Given the description of an element on the screen output the (x, y) to click on. 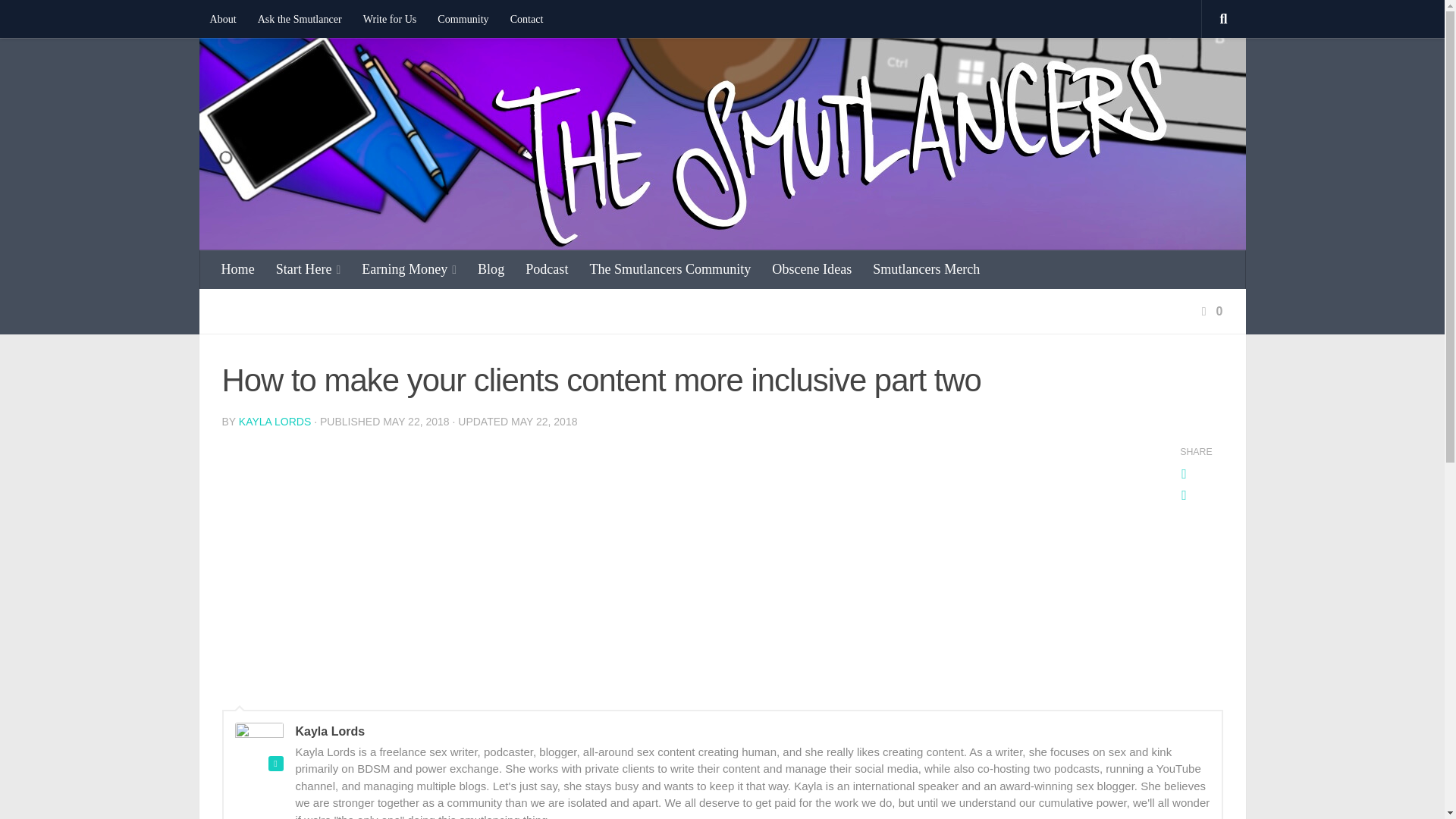
Posts by Kayla Lords (274, 421)
About (222, 18)
Contact (526, 18)
Smutlancers Merch (925, 269)
Blog (491, 269)
Write for Us (390, 18)
Obscene Ideas (811, 269)
Ask the Smutlancer (299, 18)
Start Here (308, 269)
Home (237, 269)
Earning Money (408, 269)
The Smutlancers Community (669, 269)
Community (462, 18)
Podcast (546, 269)
